Given the description of an element on the screen output the (x, y) to click on. 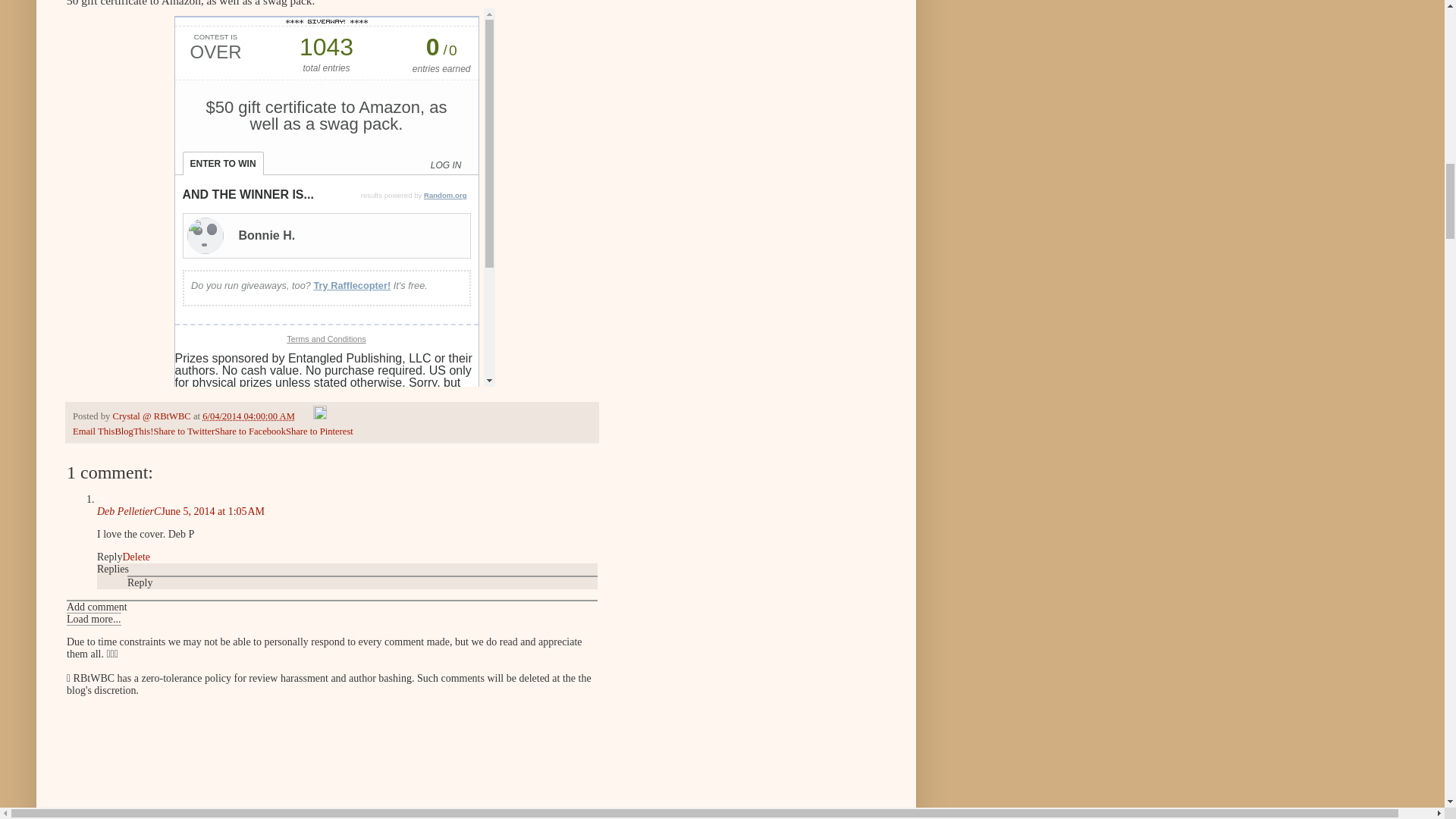
Share to Pinterest (319, 430)
BlogThis! (133, 430)
Deb PelletierC (128, 511)
Load more... (93, 618)
Replies (113, 568)
Email This (93, 430)
BlogThis! (133, 430)
Share to Facebook (249, 430)
Share to Twitter (183, 430)
Share to Pinterest (319, 430)
Add comment (97, 606)
Email This (93, 430)
Share to Facebook (249, 430)
Share to Twitter (183, 430)
